Given the description of an element on the screen output the (x, y) to click on. 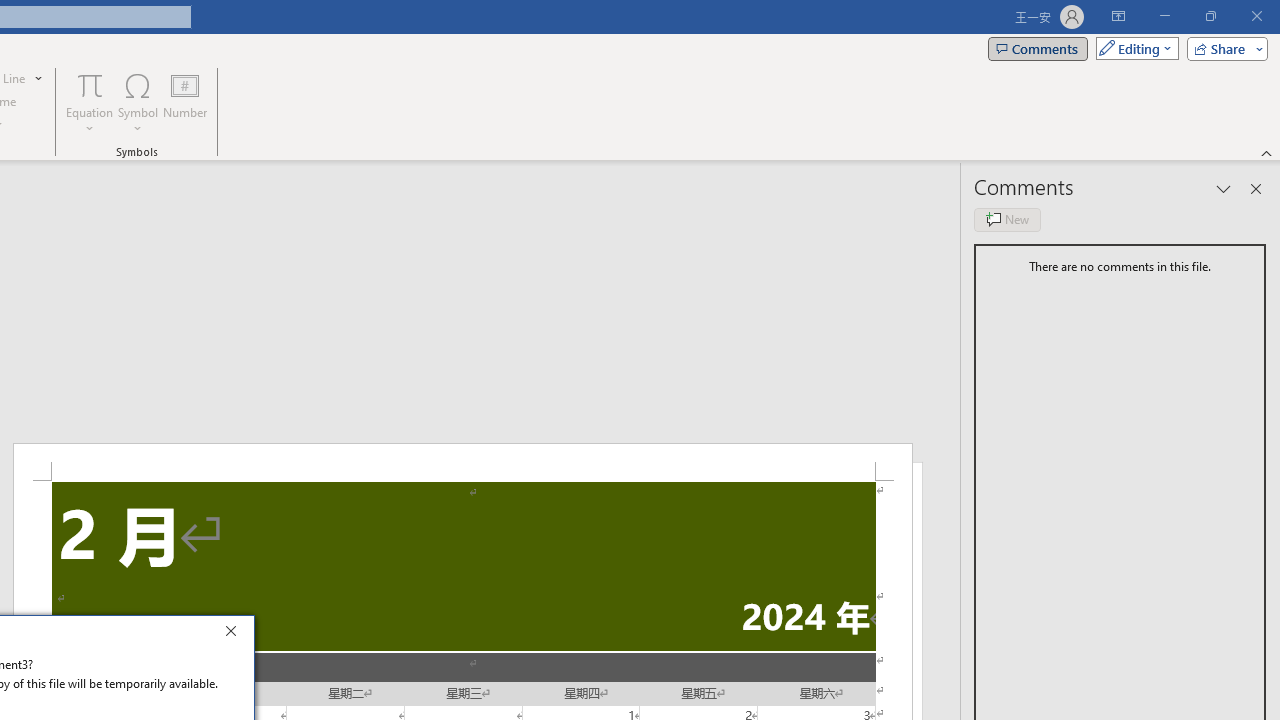
Header -Section 2- (462, 461)
Equation (90, 102)
